Given the description of an element on the screen output the (x, y) to click on. 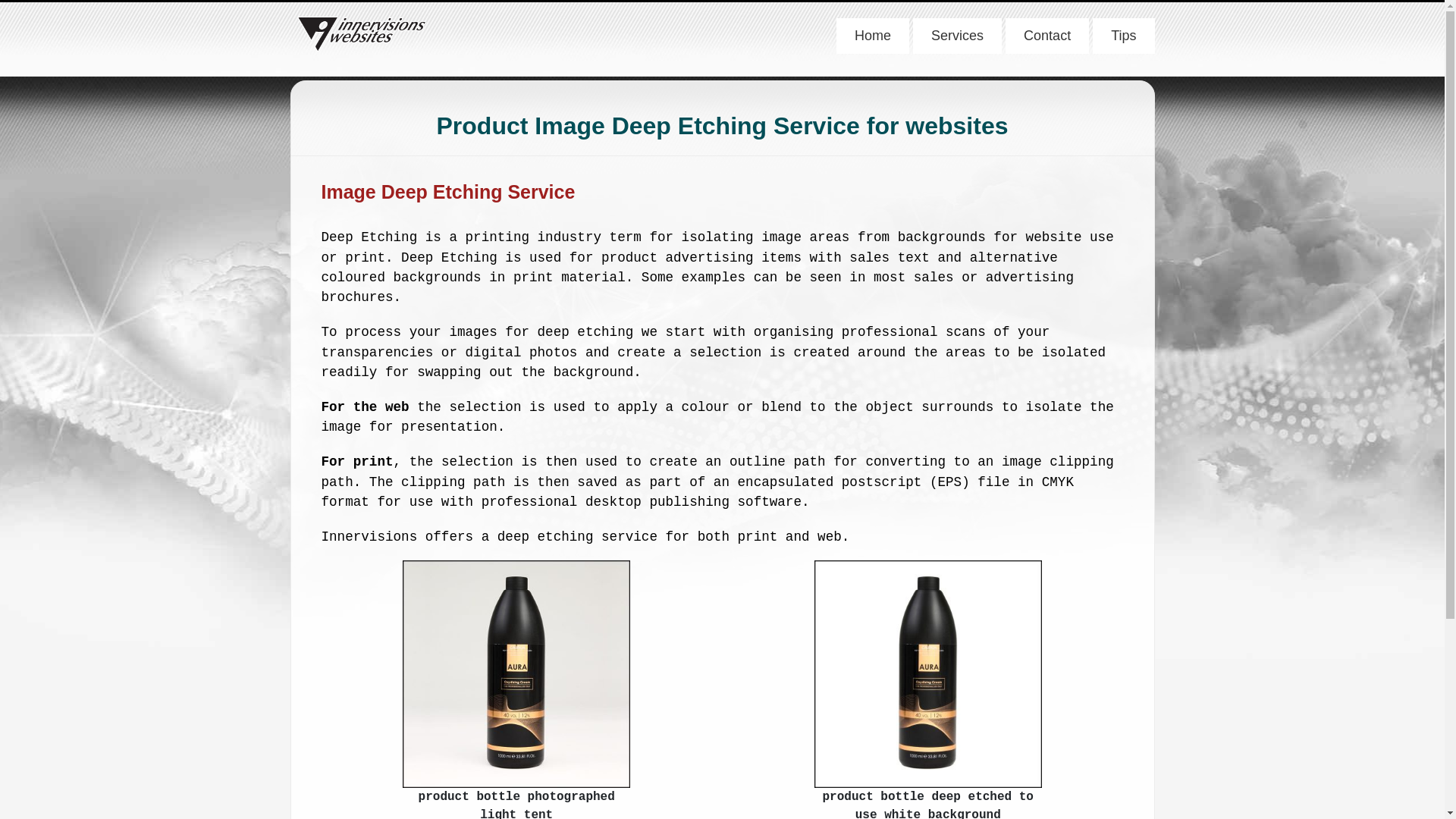
Home Element type: text (872, 35)
Services Element type: text (957, 35)
Contact Element type: text (1046, 35)
Tips Element type: text (1123, 35)
